Given the description of an element on the screen output the (x, y) to click on. 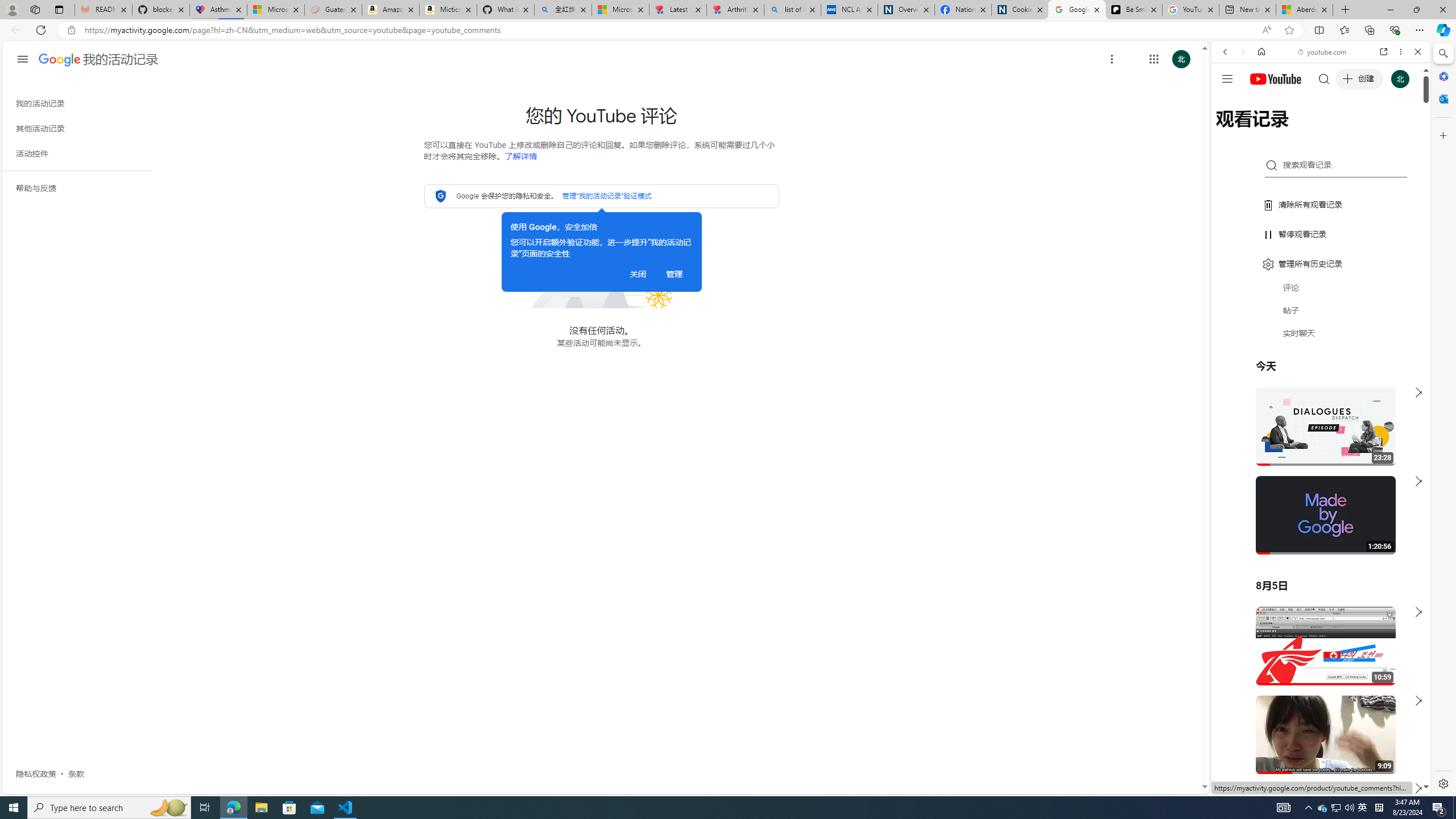
Class: Xviznc NMm5M (1111, 59)
